Given the description of an element on the screen output the (x, y) to click on. 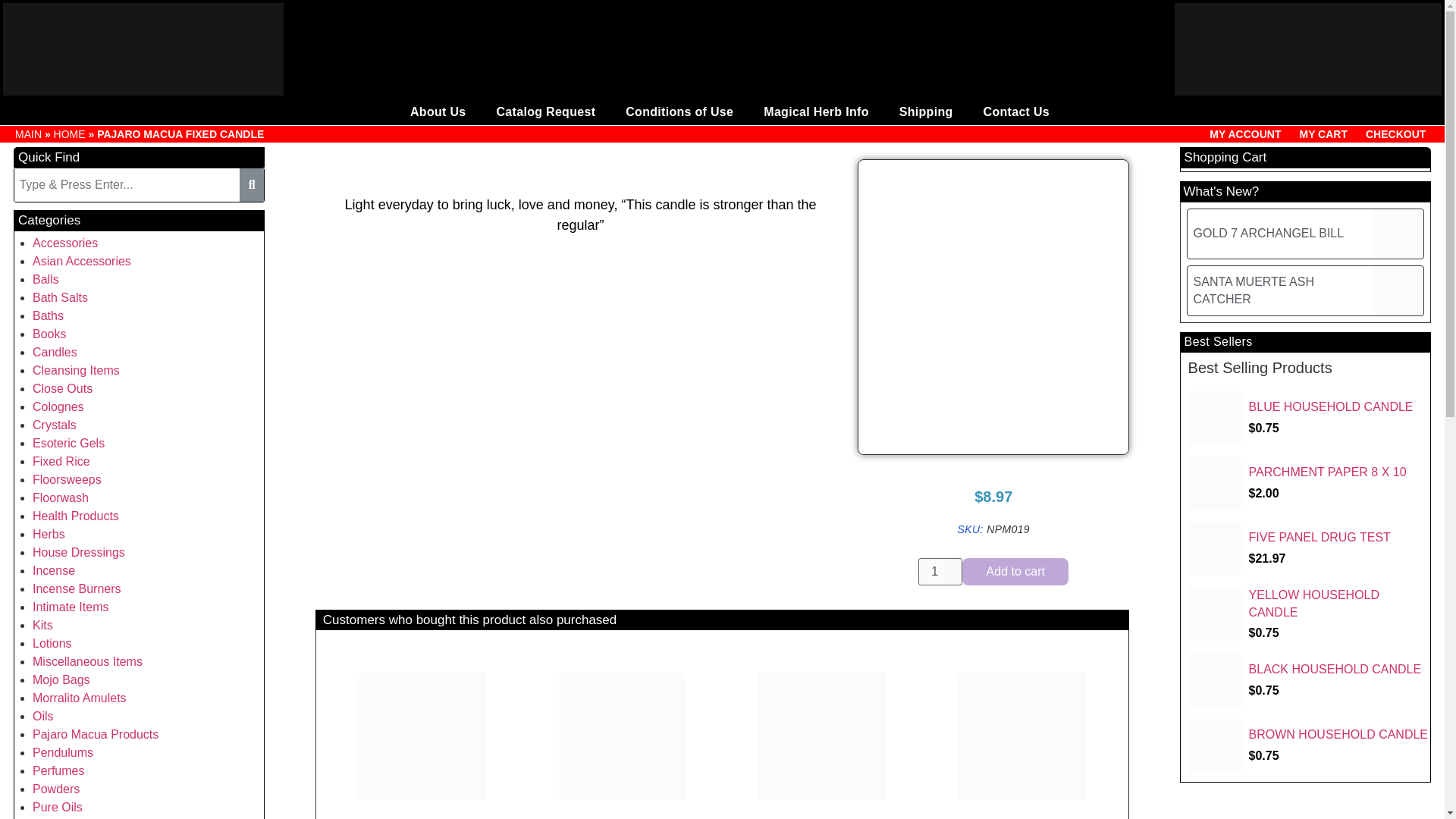
MAIN (28, 133)
YELLOW HOUSEHOLD CANDLE (1308, 614)
MY CART (1323, 134)
Herbs (48, 533)
Incense Burners (76, 588)
BROWN HOUSEHOLD CANDLE (1308, 745)
FIVE PANEL DRUG TEST (1308, 547)
Baths (48, 315)
Accessories (64, 242)
MY ACCOUNT (1244, 134)
Health Products (75, 515)
Cleansing Items (75, 369)
Crystals (54, 424)
Incense (53, 570)
Floorwash (60, 497)
